Given the description of an element on the screen output the (x, y) to click on. 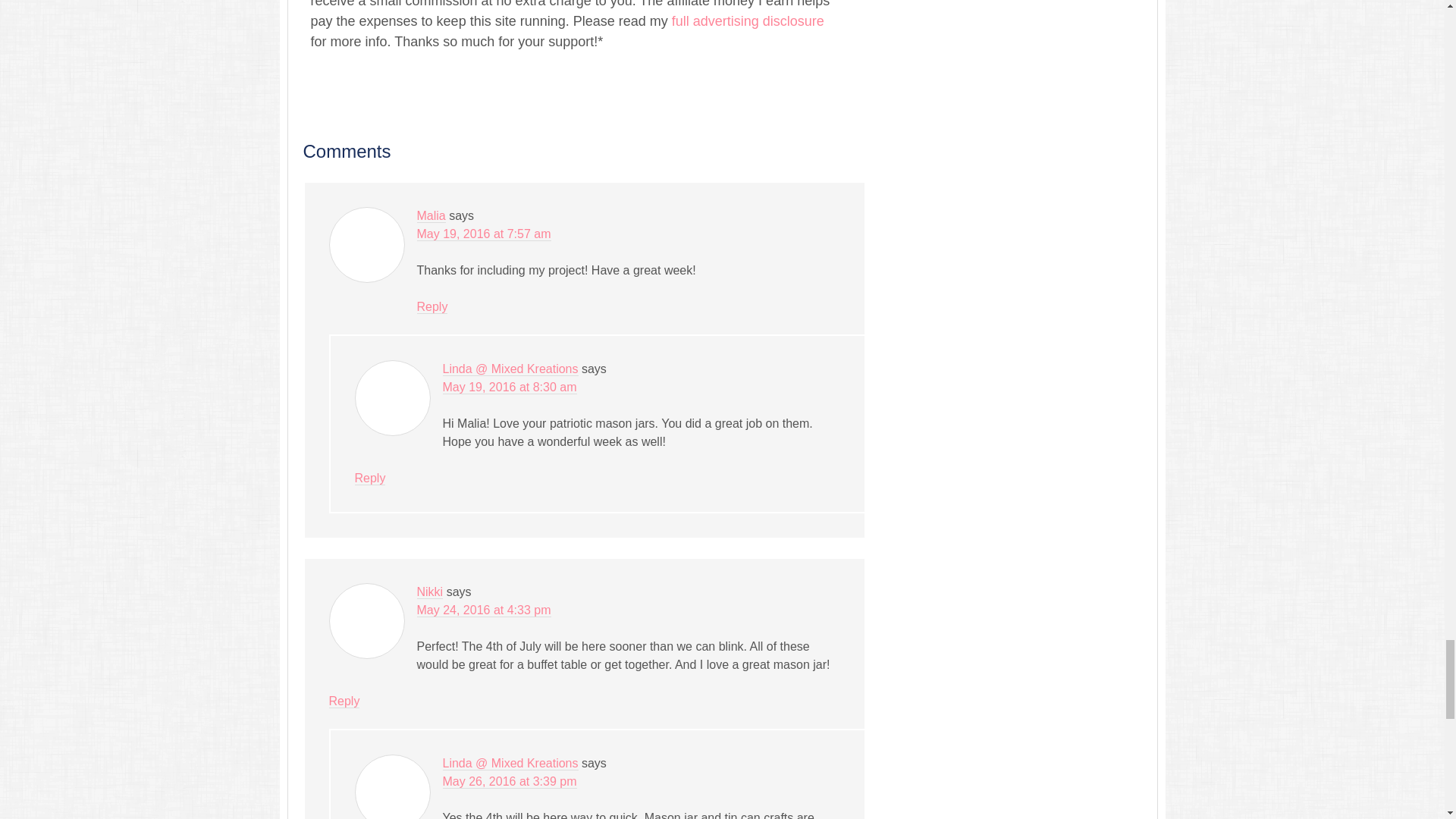
Reply (344, 701)
Malia (430, 215)
full advertising disclosure (746, 20)
Reply (432, 306)
May 19, 2016 at 7:57 am (483, 233)
Nikki (430, 591)
Reply (370, 478)
May 24, 2016 at 4:33 pm (483, 610)
May 19, 2016 at 8:30 am (509, 386)
